Given the description of an element on the screen output the (x, y) to click on. 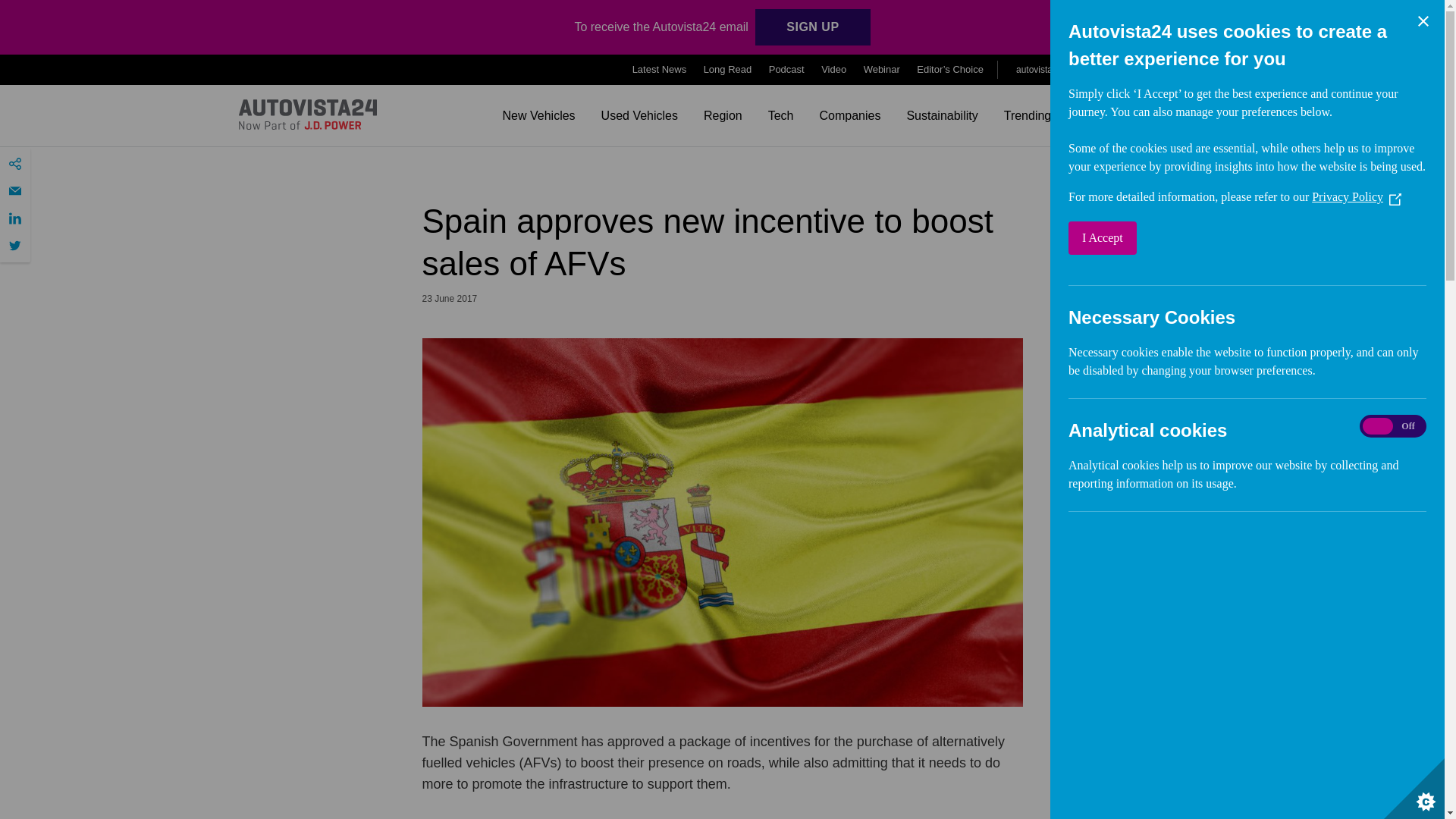
autovistagroup.com (1060, 69)
Video (833, 69)
Products (1173, 69)
Webinar (881, 69)
I Accept (1300, 237)
Podcast (786, 69)
Latest News (659, 69)
Long Read (727, 69)
SIGN UP (812, 27)
